Given the description of an element on the screen output the (x, y) to click on. 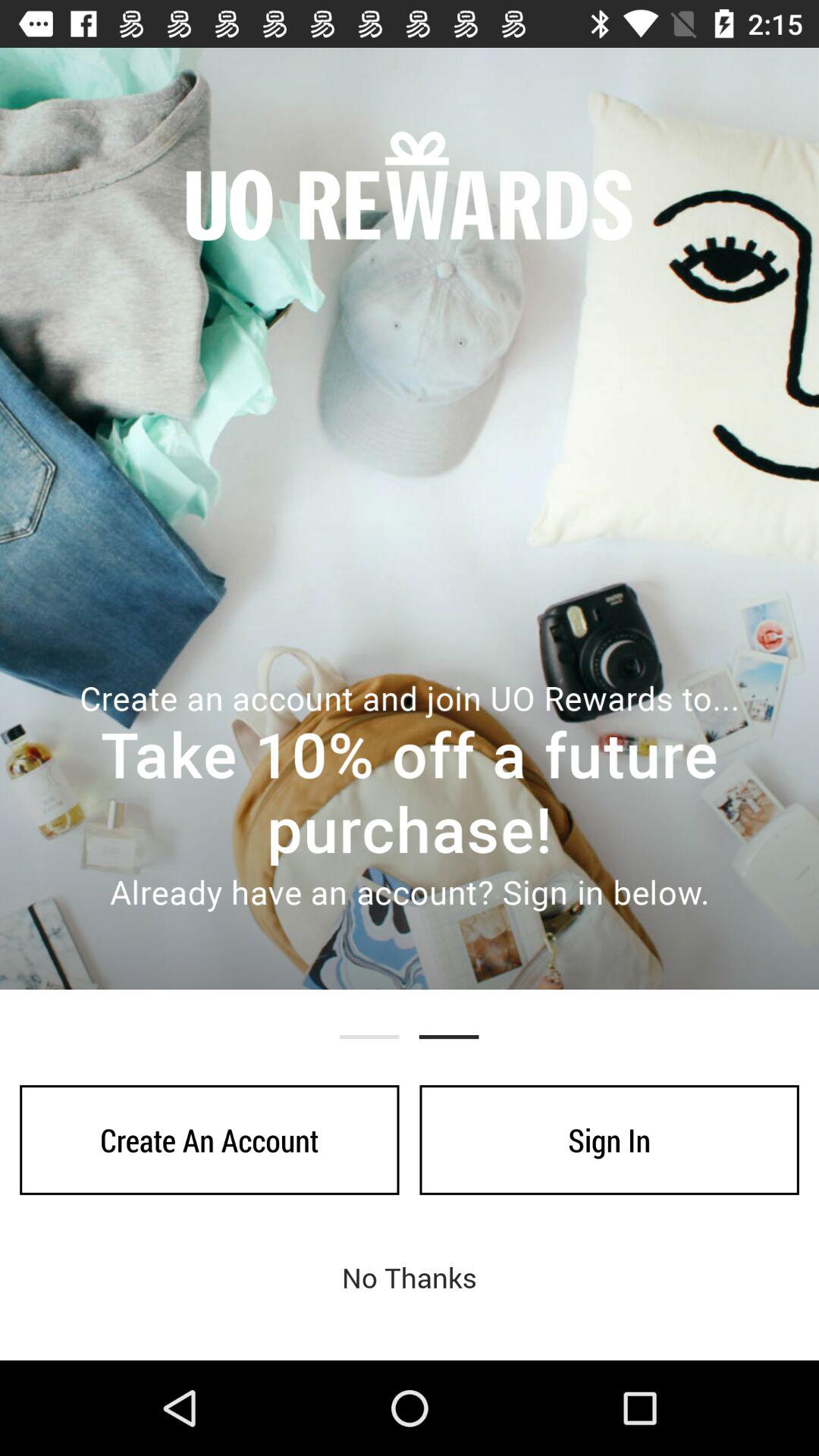
turn off the no thanks icon (409, 1277)
